Given the description of an element on the screen output the (x, y) to click on. 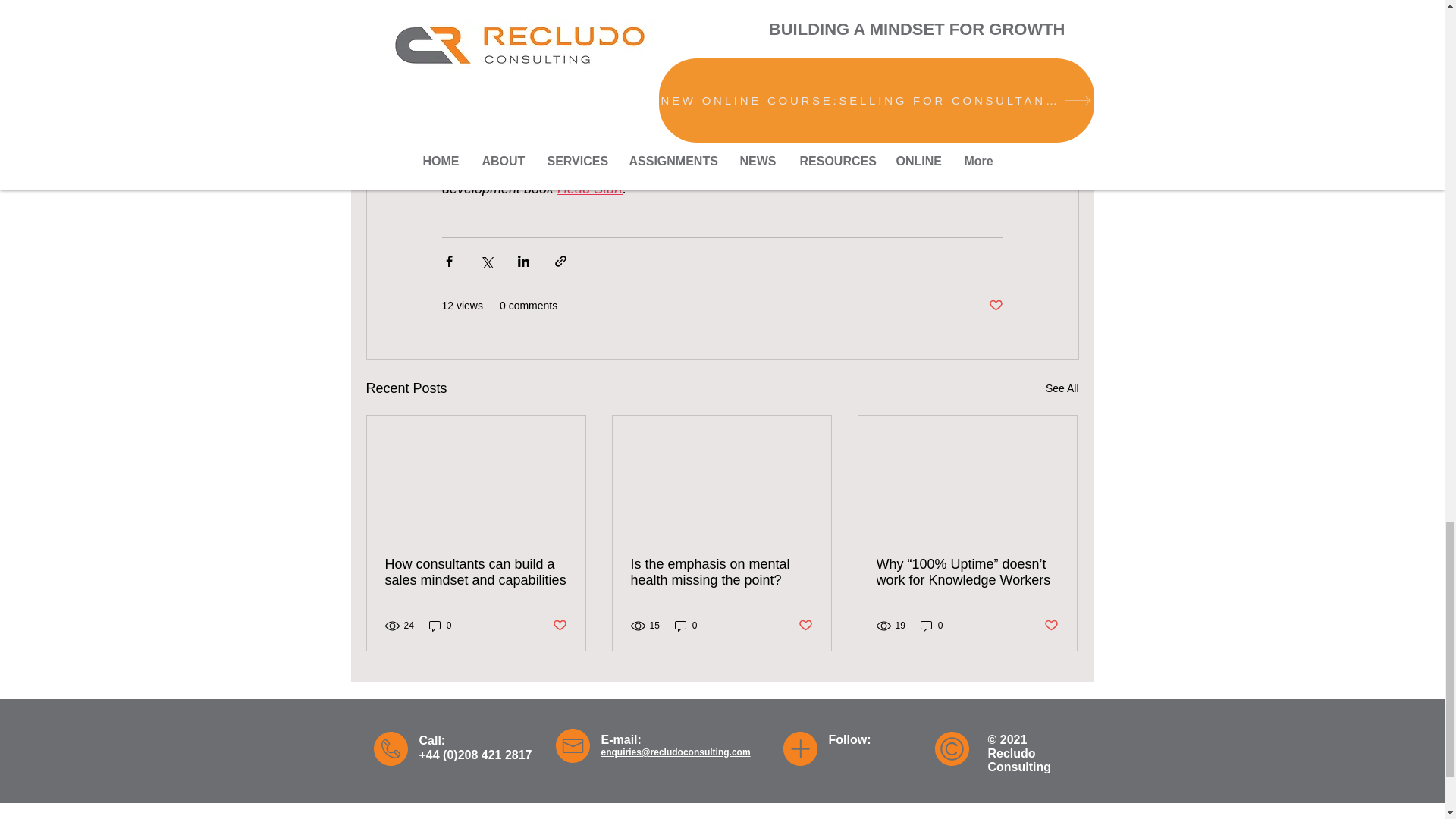
Is the emphasis on mental health missing the point? (721, 572)
0 (931, 626)
Head Start (590, 188)
See All (1061, 388)
Post not marked as liked (1050, 625)
Post not marked as liked (995, 305)
Post not marked as liked (804, 625)
0 (685, 626)
How consultants can build a sales mindset and capabilities (476, 572)
0 (440, 626)
Post not marked as liked (558, 625)
